Given the description of an element on the screen output the (x, y) to click on. 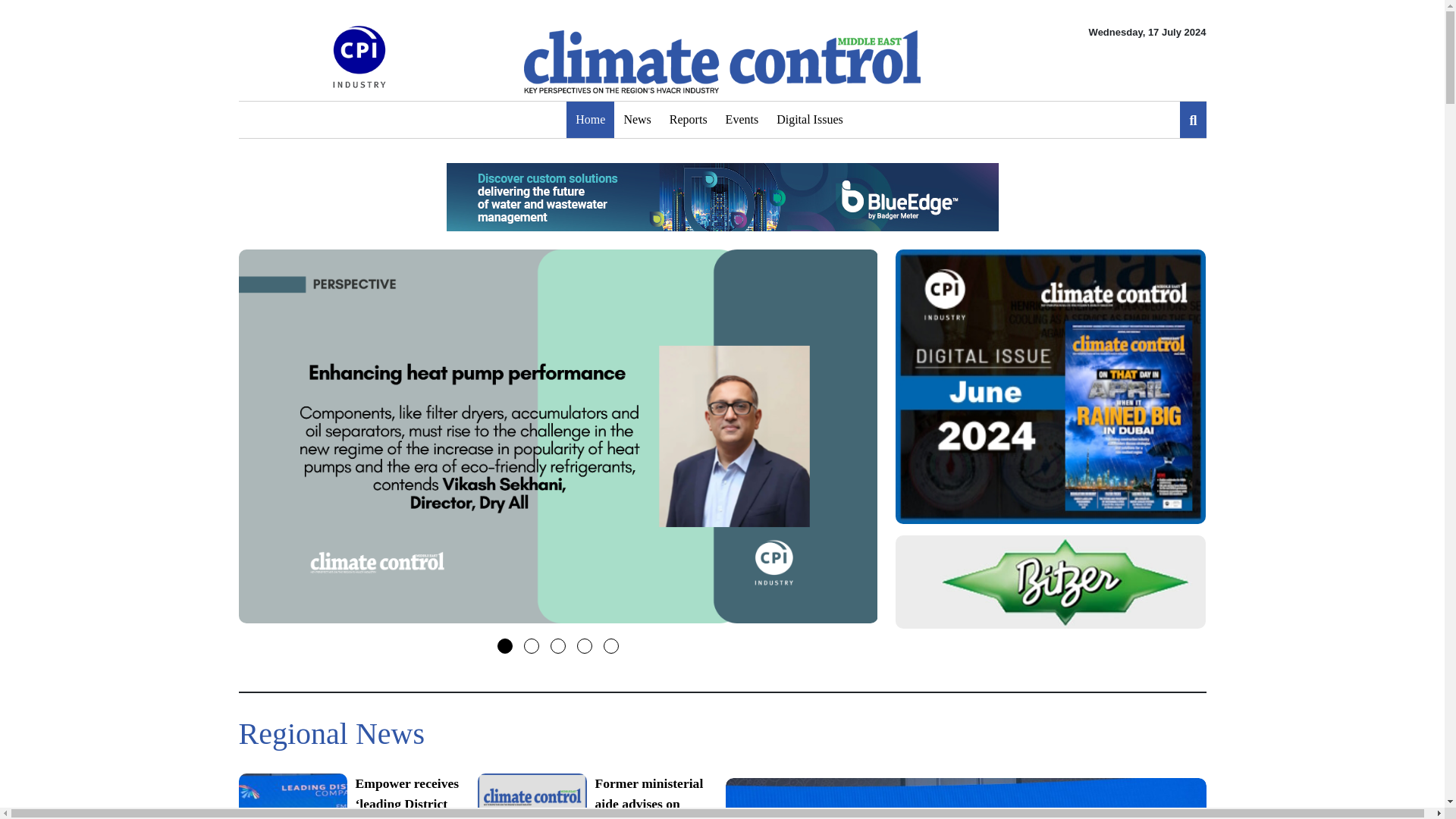
Digital Issues (809, 119)
Reports (688, 119)
Events (742, 119)
News (636, 119)
Former ministerial aide advises on management of storm water (590, 796)
Home (590, 119)
